Given the description of an element on the screen output the (x, y) to click on. 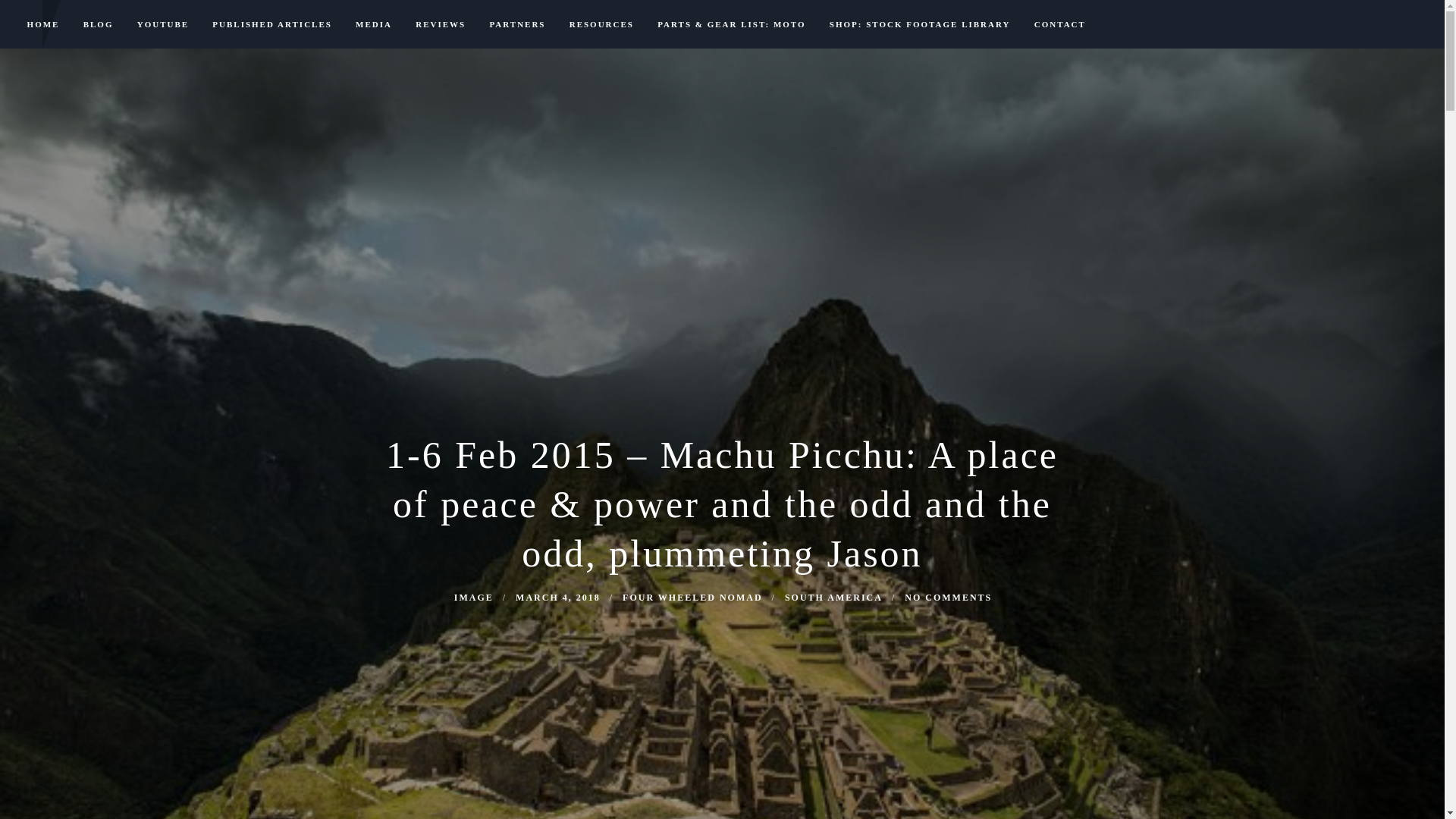
REVIEWS (440, 24)
YOUTUBE (162, 24)
View all posts by Four Wheeled Nomad (692, 597)
HOME (42, 24)
MEDIA (373, 24)
PUBLISHED ARTICLES (271, 24)
BLOG (98, 24)
